Given the description of an element on the screen output the (x, y) to click on. 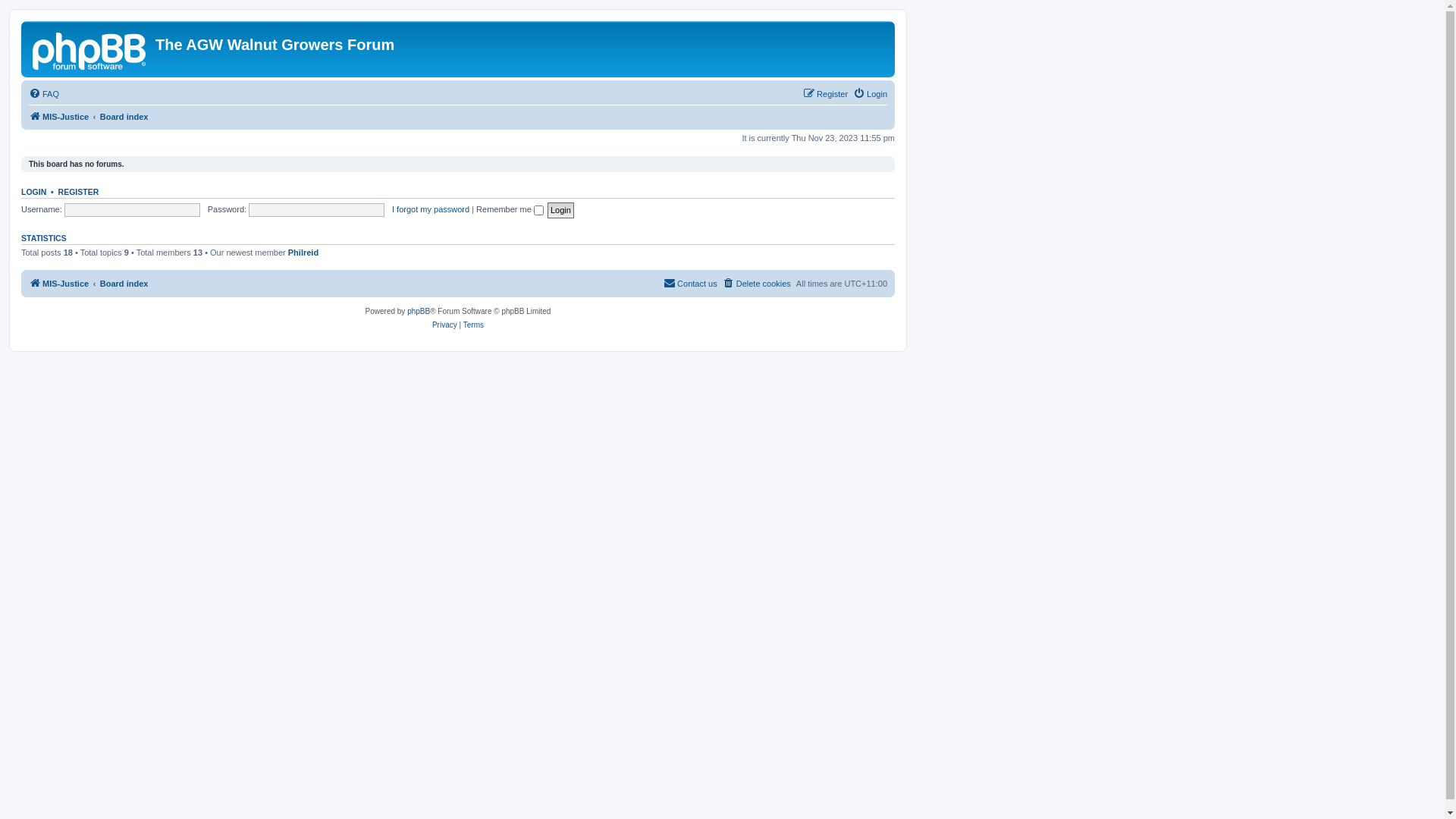
Terms Element type: text (473, 325)
Register Element type: text (825, 93)
MIS-Justice Element type: hover (90, 49)
REGISTER Element type: text (78, 191)
Delete cookies Element type: text (756, 283)
Contact us Element type: text (690, 283)
MIS-Justice Element type: text (58, 116)
Board index Element type: text (124, 116)
LOGIN Element type: text (33, 191)
Username Element type: hover (132, 209)
Philreid Element type: text (303, 252)
phpBB Element type: text (418, 311)
FAQ Element type: text (43, 93)
Privacy Element type: text (444, 325)
Login Element type: text (870, 93)
Login Element type: text (560, 210)
Password Element type: hover (316, 209)
MIS-Justice Element type: text (58, 283)
Board index Element type: text (124, 283)
I forgot my password Element type: text (430, 208)
